Given the description of an element on the screen output the (x, y) to click on. 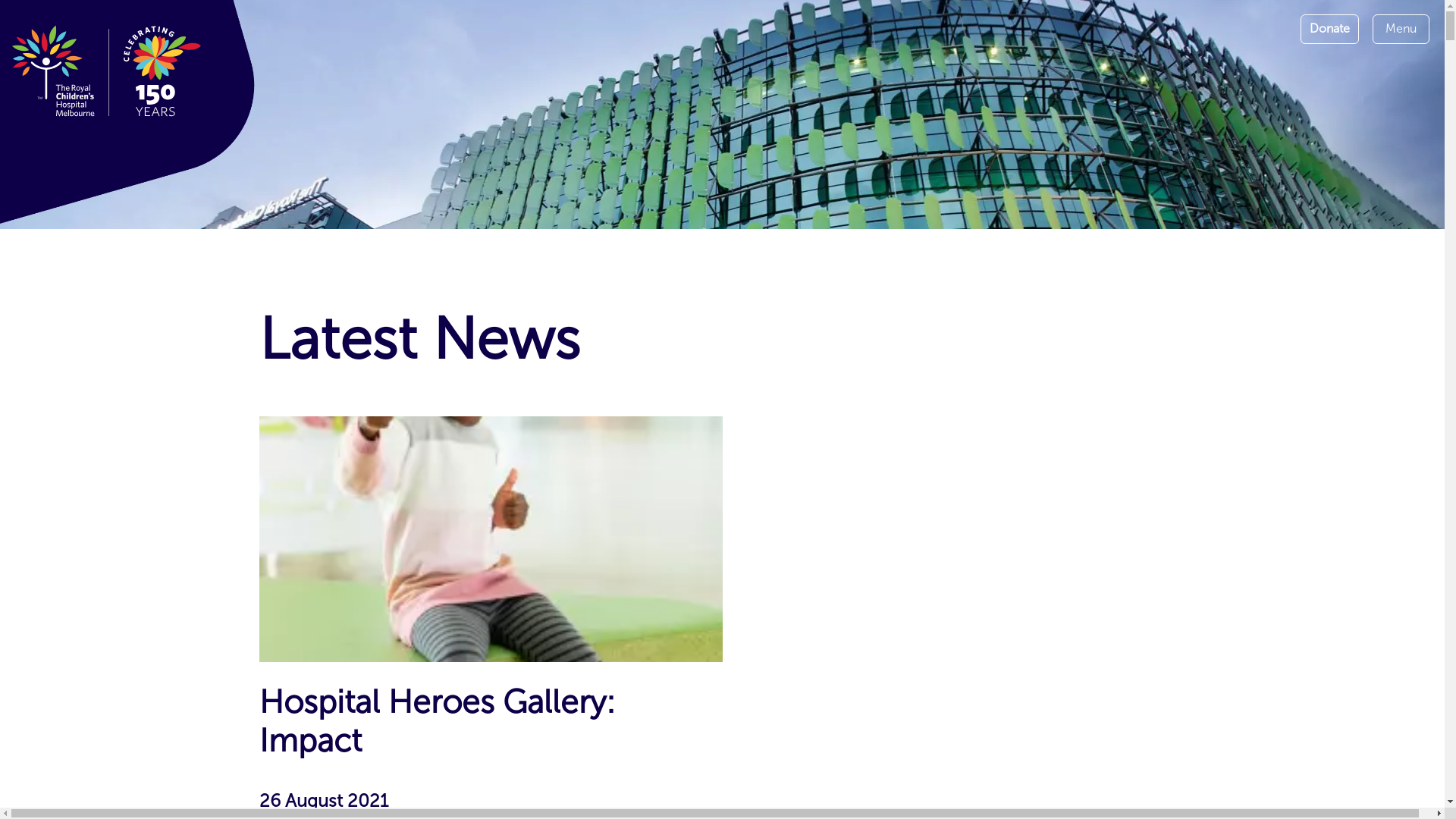
Menu Element type: text (1400, 28)
Donate Element type: text (1329, 28)
